Given the description of an element on the screen output the (x, y) to click on. 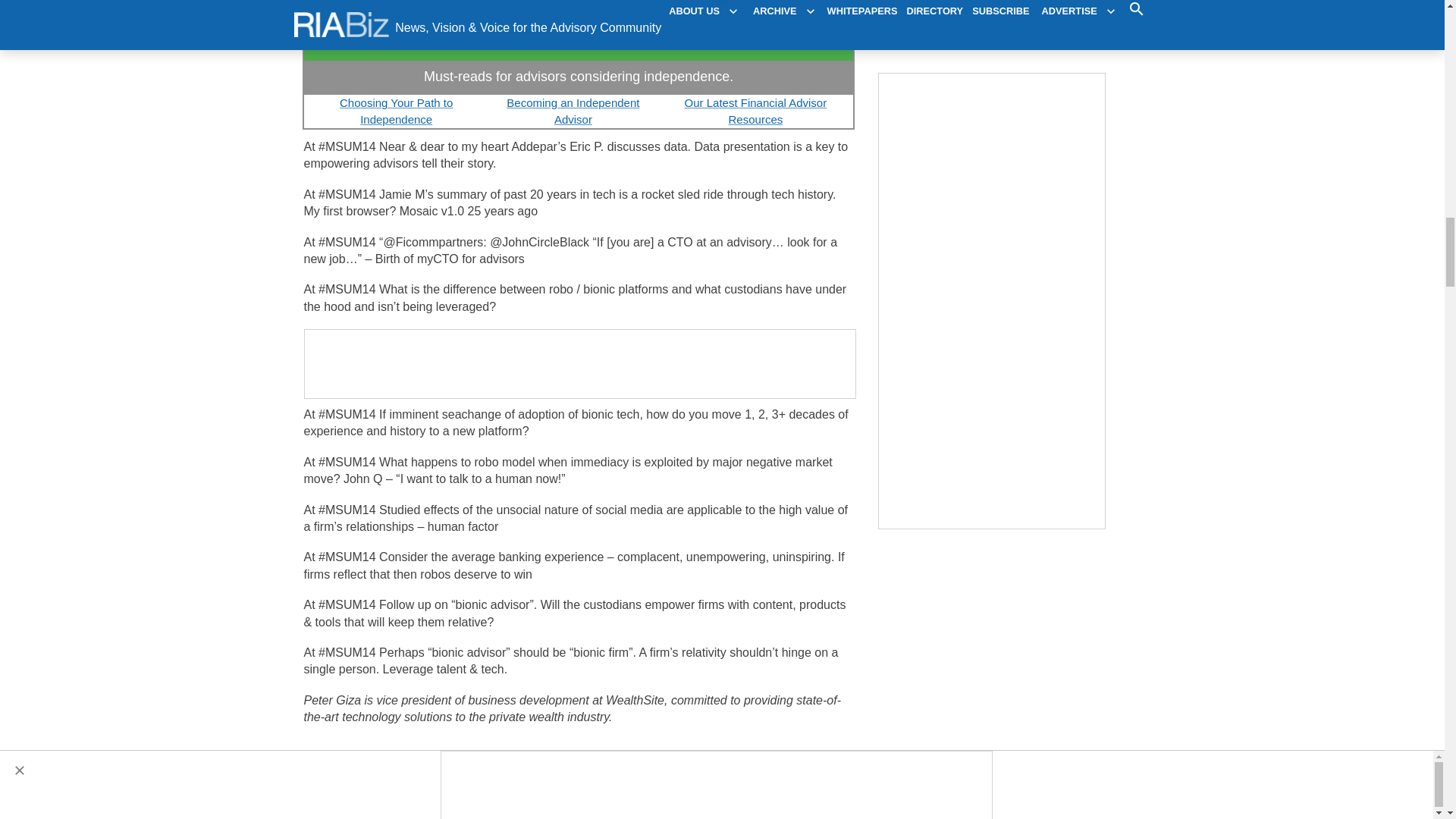
Technology (523, 773)
Joe Duran (352, 806)
Becoming an Independent Advisor (572, 111)
Robo-Advisors (443, 773)
Peter Giza (502, 806)
Our Latest Financial Advisor Resources (755, 111)
Choosing Your Path to Independence (395, 111)
Jon Stein (565, 806)
3rd party ad content (580, 364)
Jud Bergman (426, 806)
Conferences (358, 773)
